Given the description of an element on the screen output the (x, y) to click on. 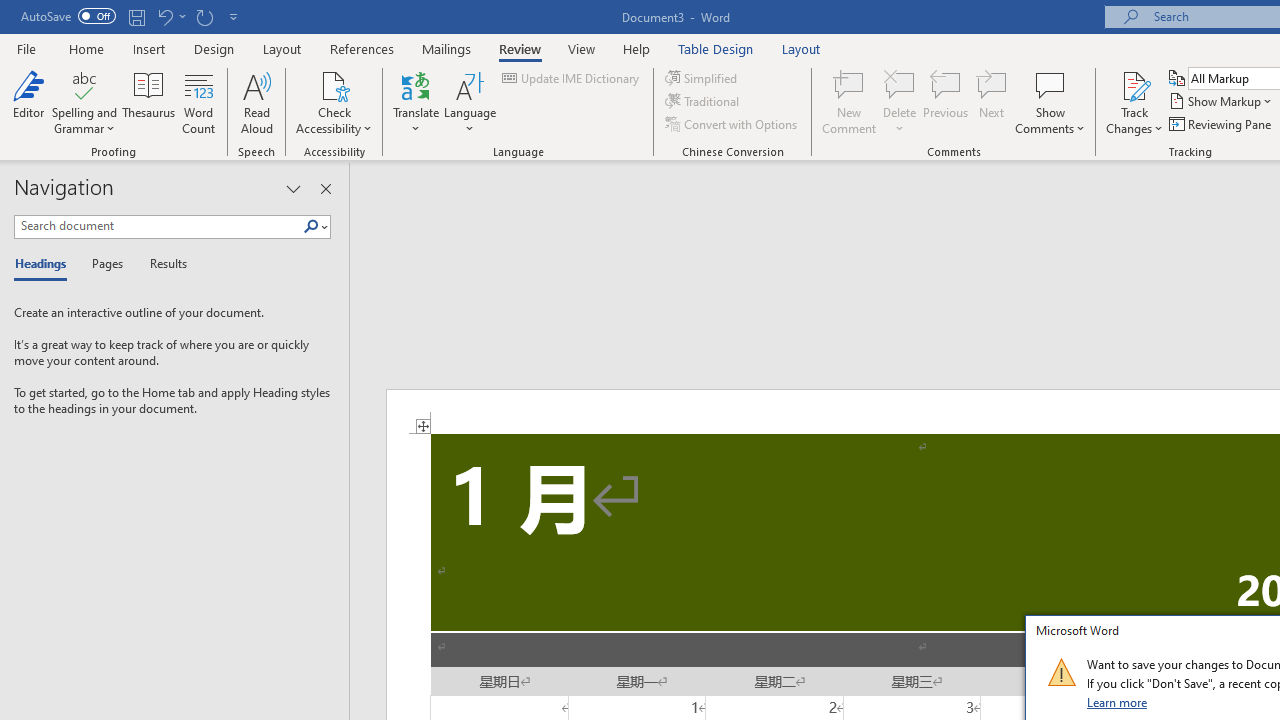
Delete (900, 84)
Show Comments (1050, 84)
Check Accessibility (334, 84)
Learn more (1118, 702)
Previous (946, 102)
